Given the description of an element on the screen output the (x, y) to click on. 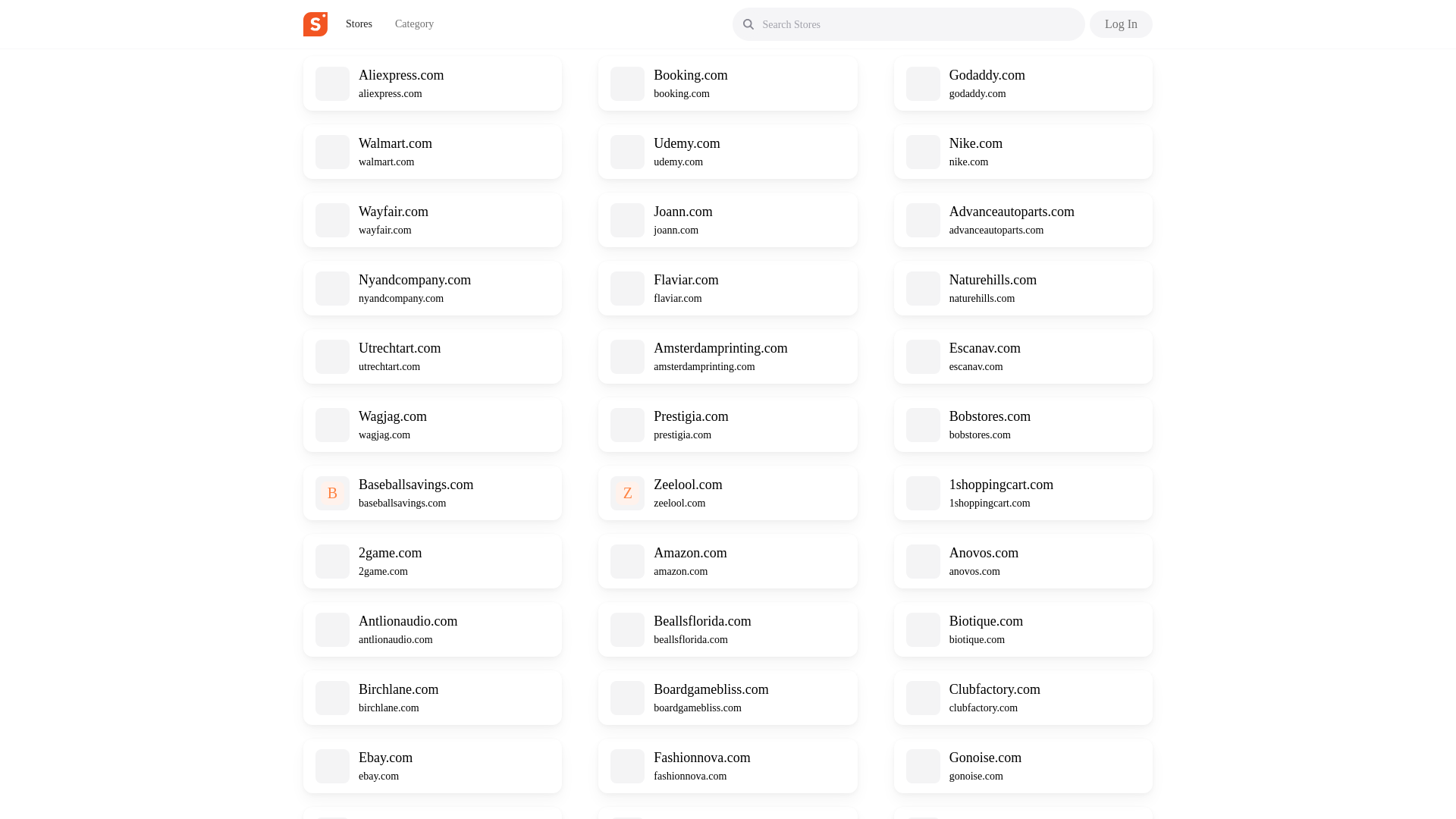
Booking.com (690, 74)
Joann.com (682, 211)
Amazon.com (689, 552)
Beallsflorida.com (702, 620)
Birchlane.com (398, 688)
Godaddy.com (987, 74)
Prestigia.com (690, 416)
Aliexpress.com (401, 74)
Anovos.com (984, 552)
Walmart.com (395, 142)
